Given the description of an element on the screen output the (x, y) to click on. 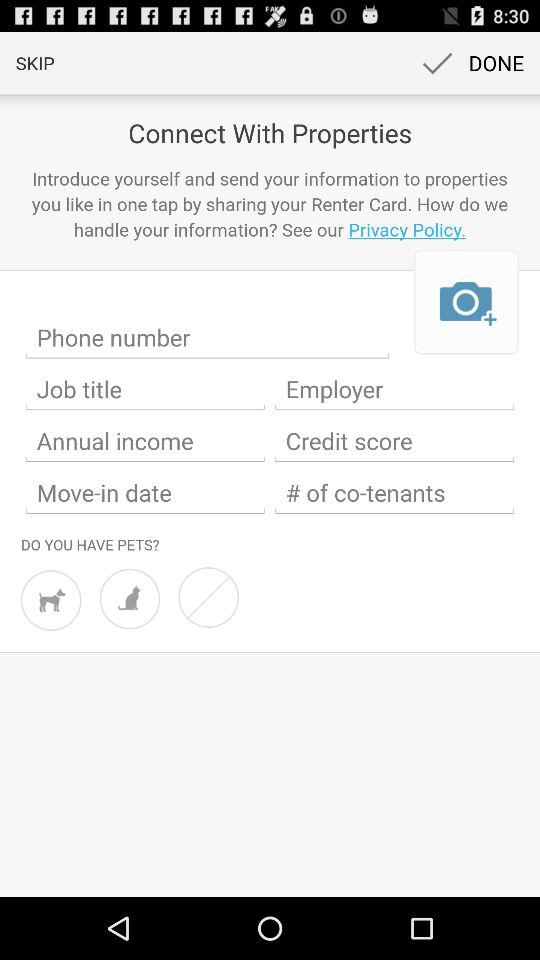
select none (208, 597)
